Given the description of an element on the screen output the (x, y) to click on. 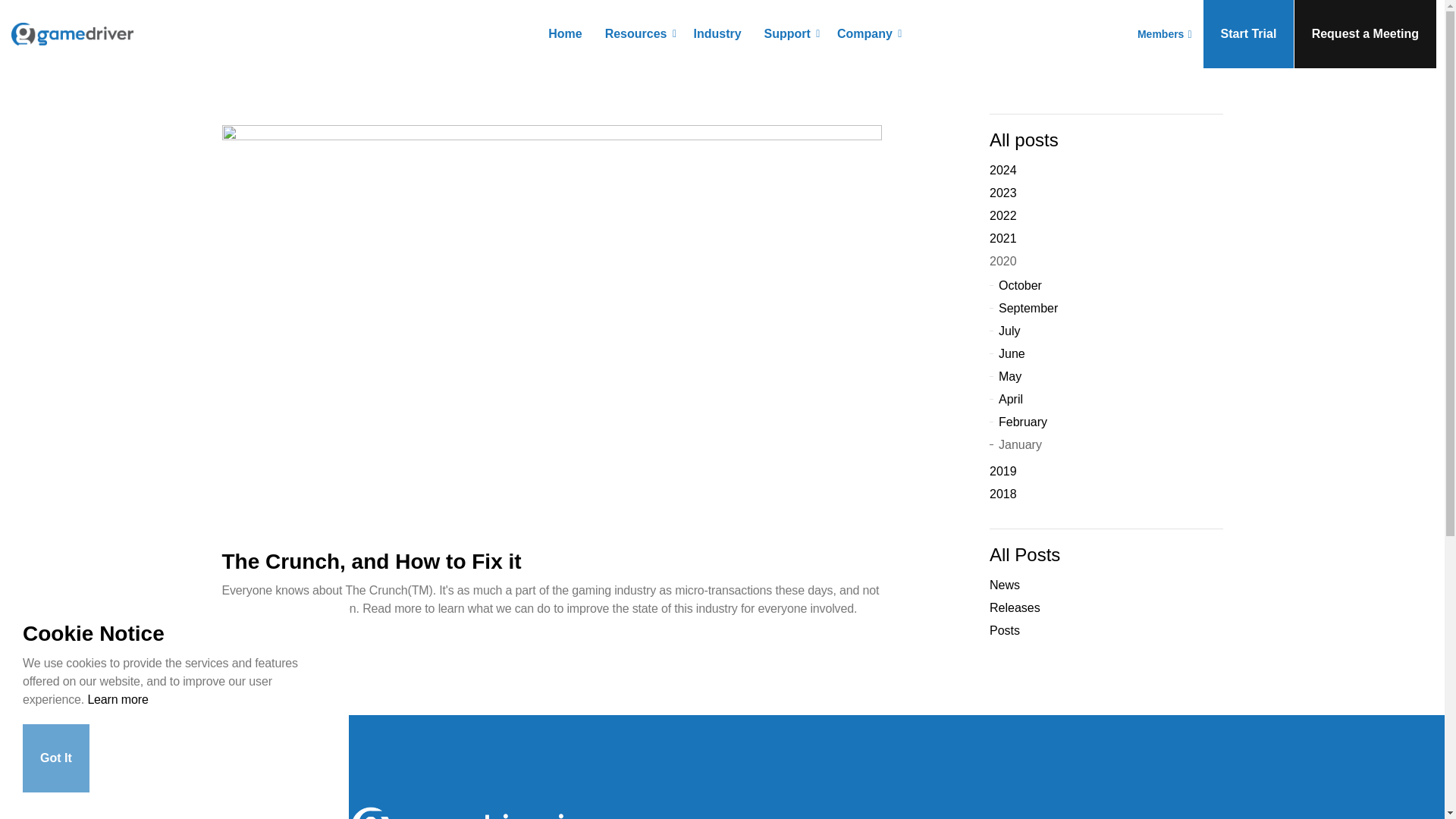
Resources (638, 33)
June (1106, 353)
Posts (233, 659)
September (1106, 308)
2023 (1106, 193)
October (1106, 285)
July (1106, 331)
All posts (1024, 139)
2020 (1106, 261)
May (1106, 376)
